Given the description of an element on the screen output the (x, y) to click on. 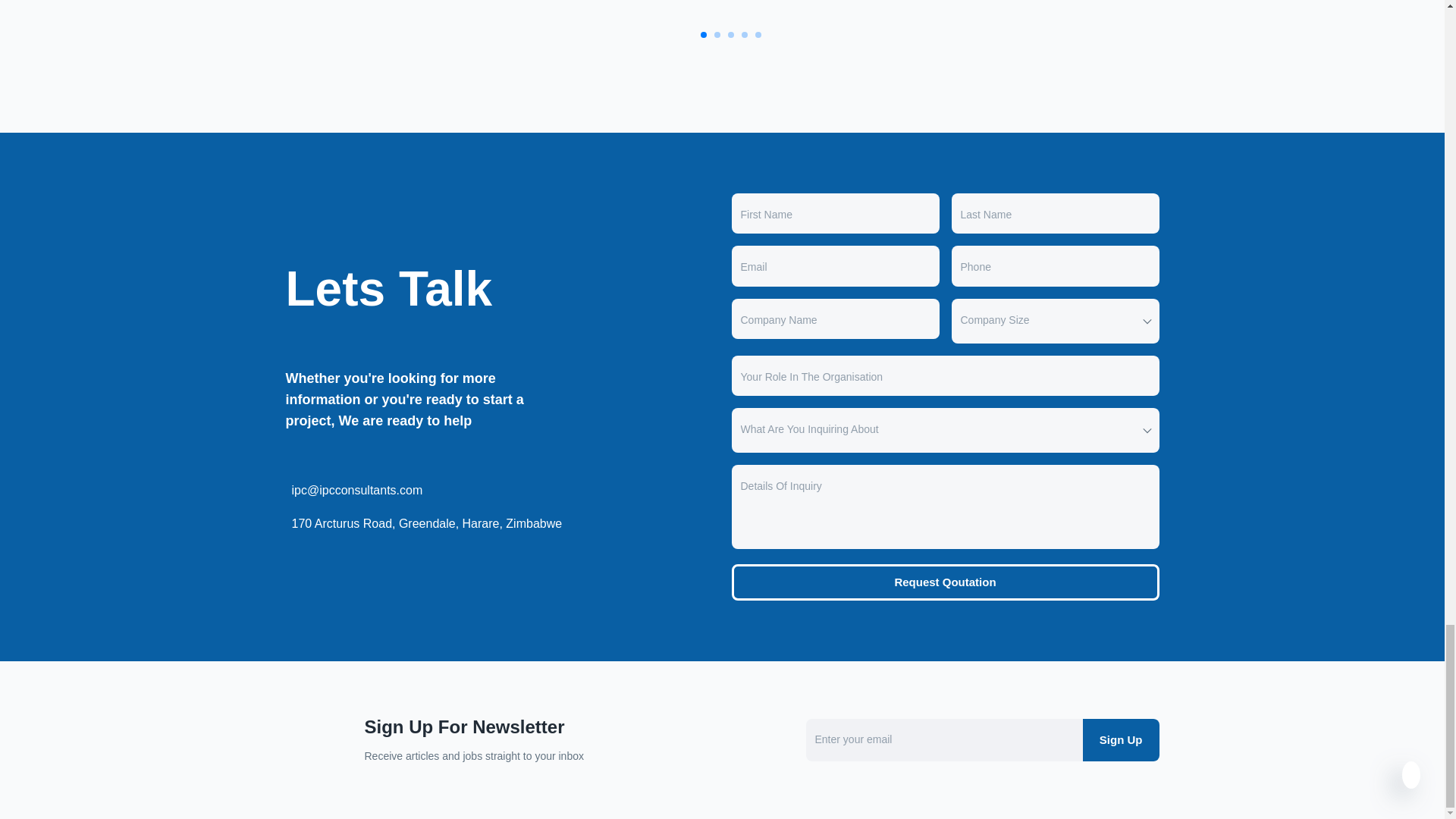
Sign Up (1120, 740)
Request Qoutation (944, 582)
